Given the description of an element on the screen output the (x, y) to click on. 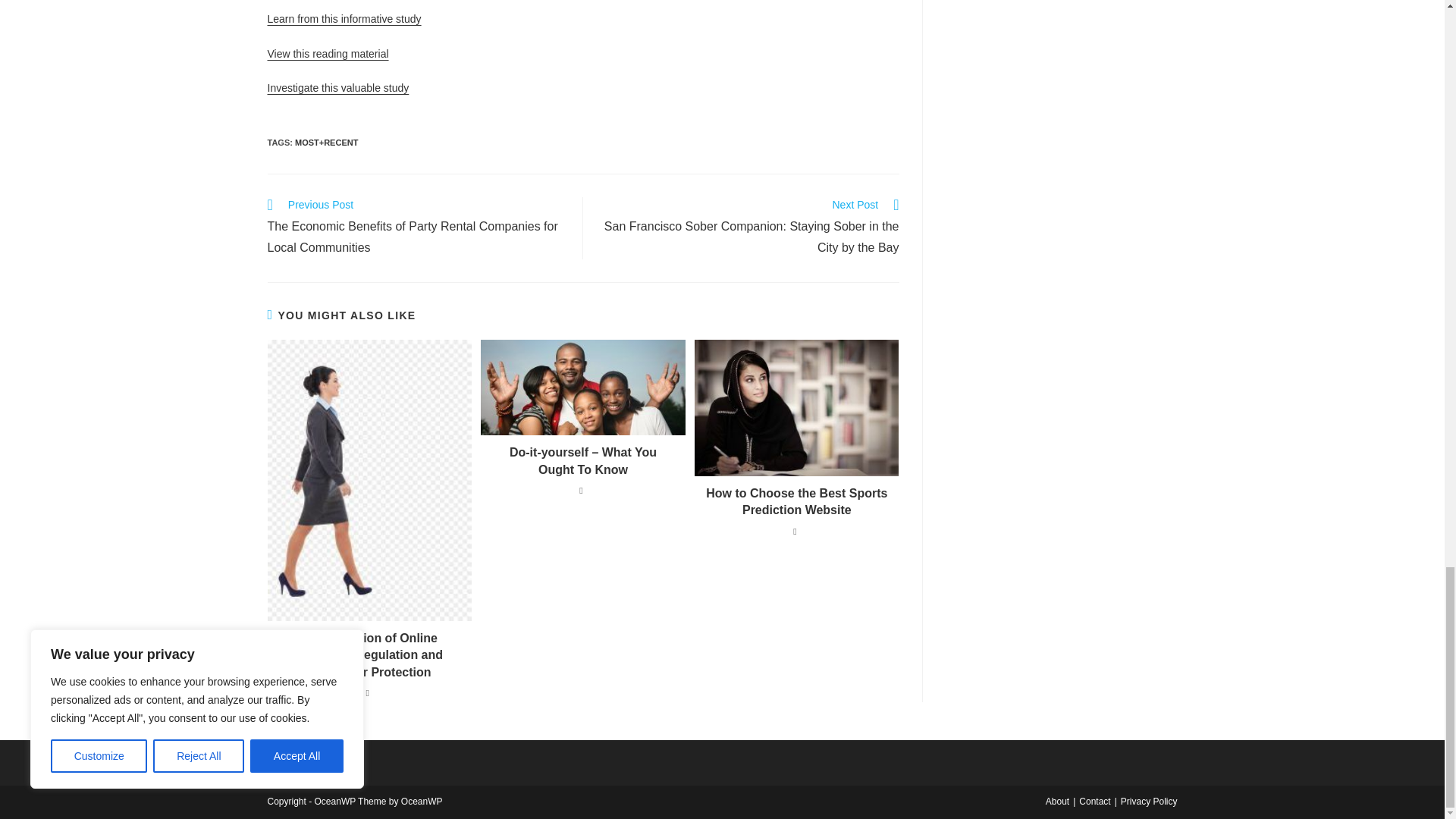
View this reading material (327, 53)
Learn from this informative study (343, 19)
Investigate this valuable study (337, 87)
